Given the description of an element on the screen output the (x, y) to click on. 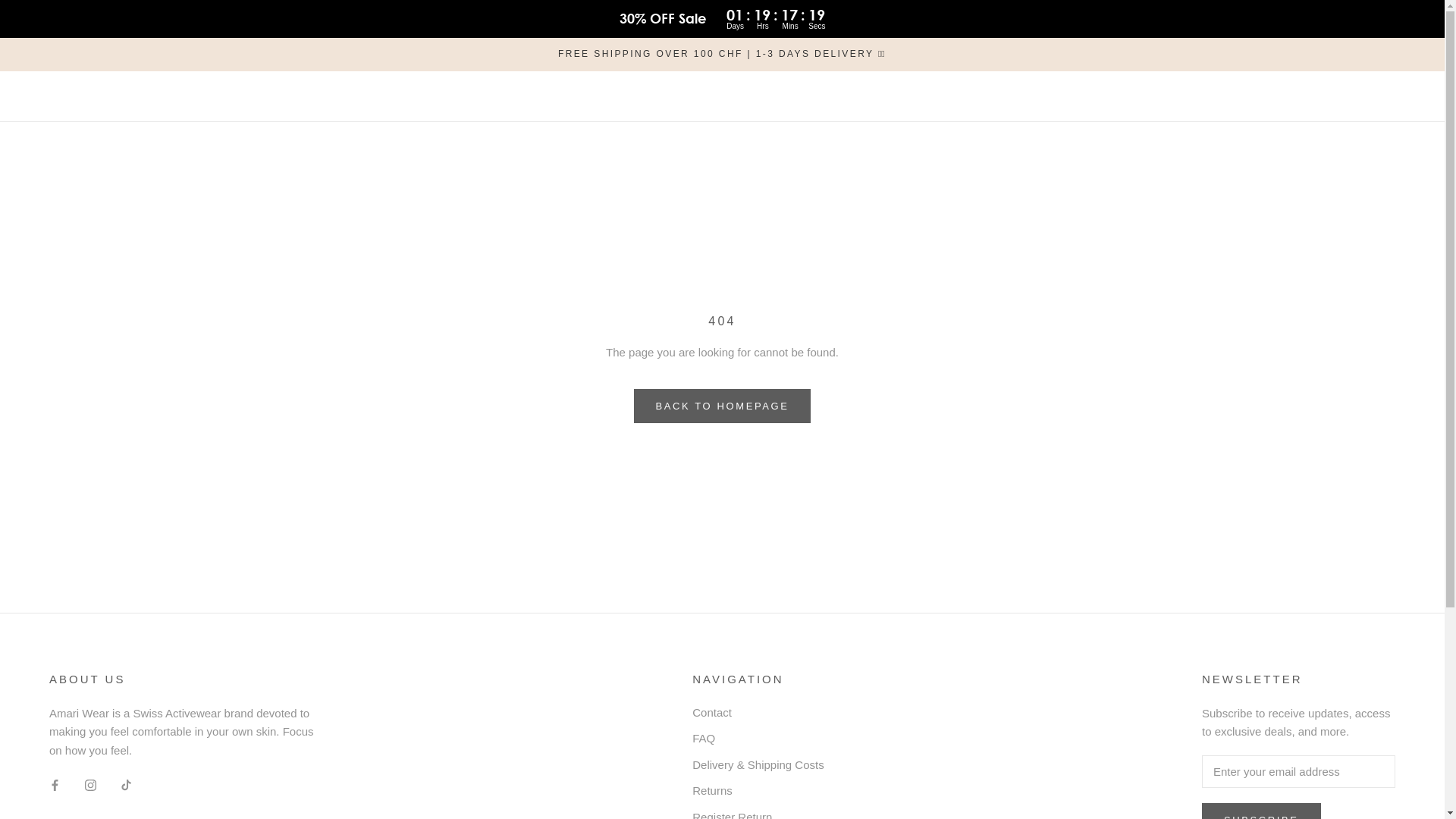
BACK TO HOMEPAGE Element type: text (722, 406)
Delivery & Shipping Costs Element type: text (757, 765)
FAQ Element type: text (757, 738)
Contact Element type: text (757, 712)
Returns Element type: text (757, 791)
